Given the description of an element on the screen output the (x, y) to click on. 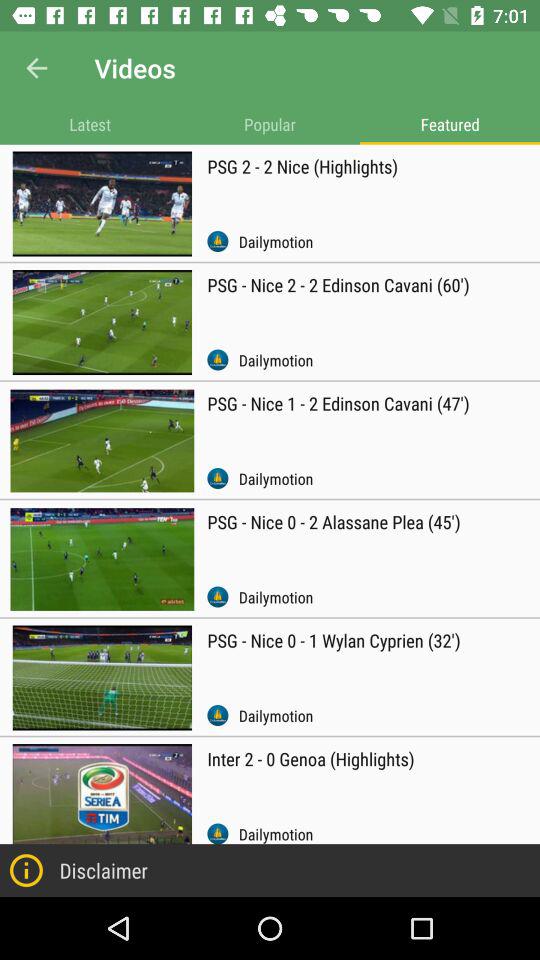
press item next to the videos item (36, 68)
